Given the description of an element on the screen output the (x, y) to click on. 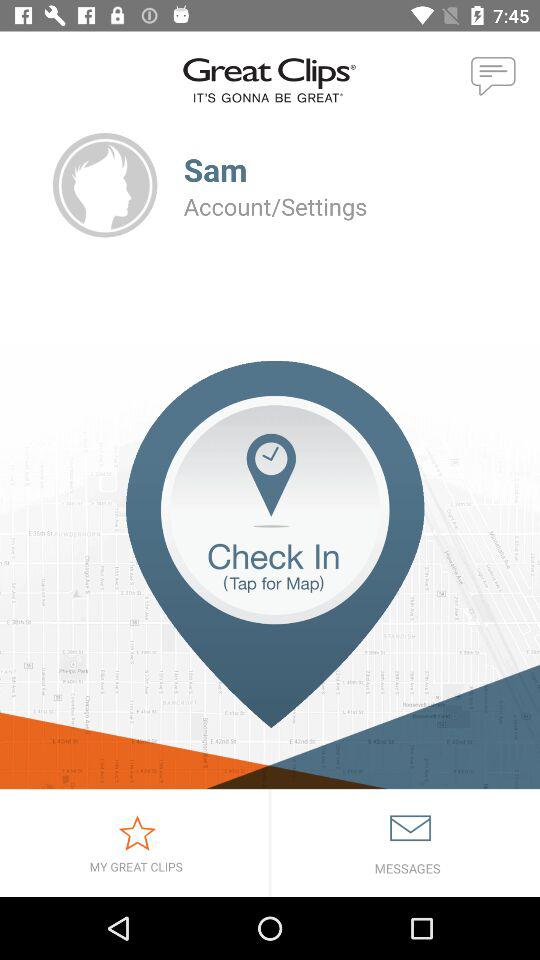
go to great clips (134, 843)
